Given the description of an element on the screen output the (x, y) to click on. 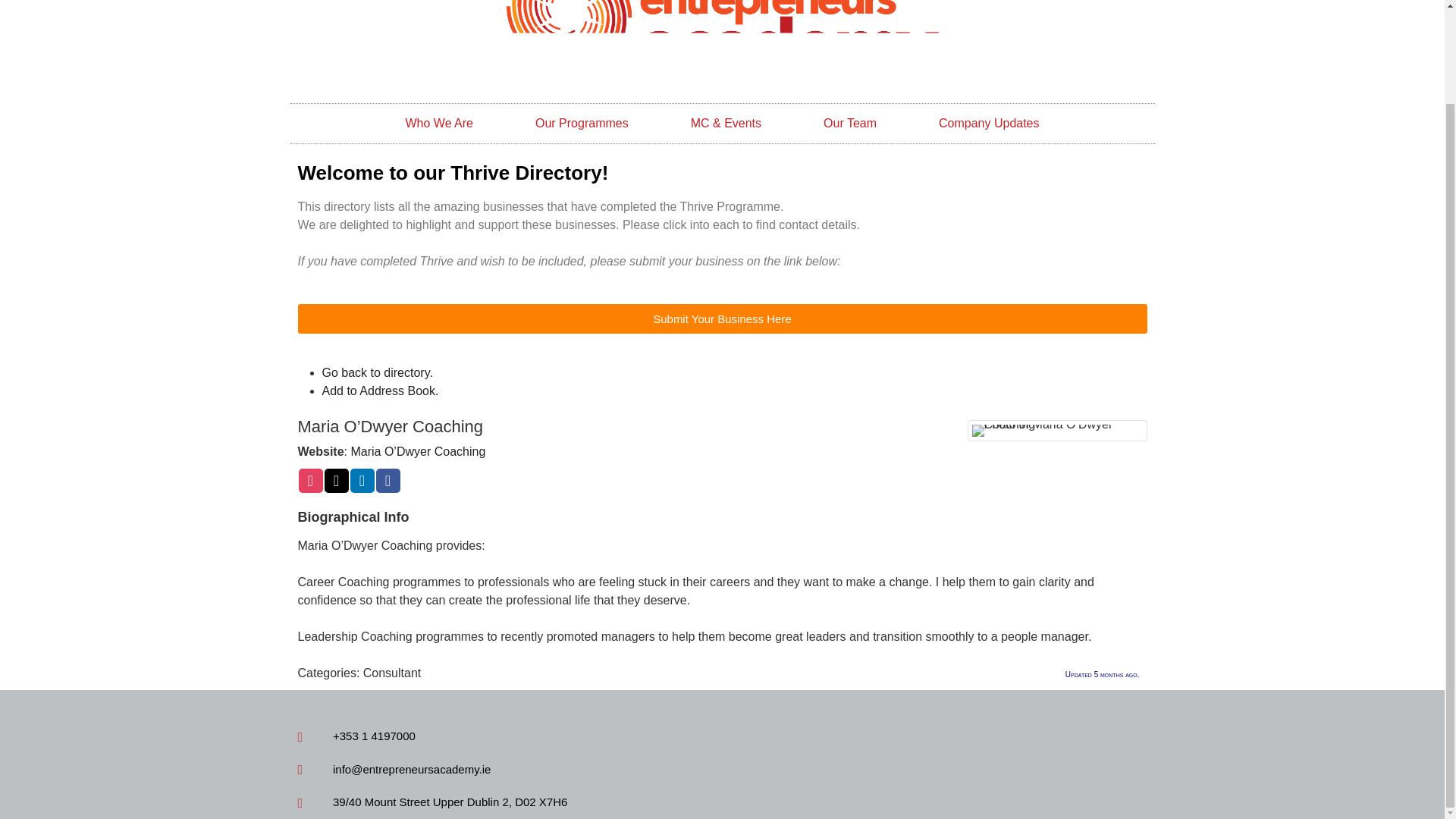
Who We Are (438, 123)
Our Programmes (581, 123)
Download vCard (379, 390)
